Given the description of an element on the screen output the (x, y) to click on. 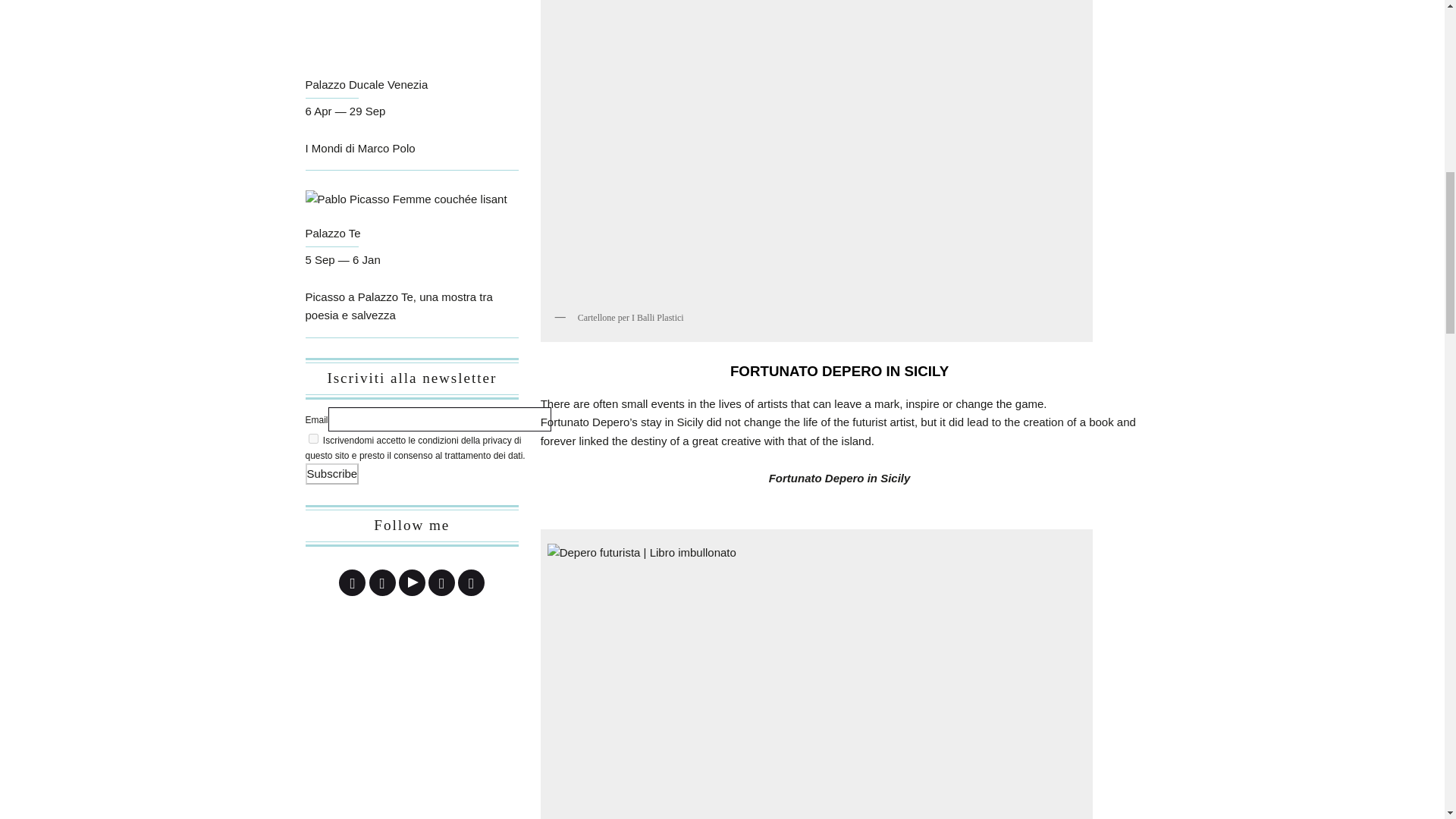
on (312, 438)
Picasso a Palazzo Te, una mostra tra poesia e salvezza (398, 305)
Subscribe (331, 473)
Subscribe (331, 473)
I Mondi di Marco Polo (359, 147)
